Given the description of an element on the screen output the (x, y) to click on. 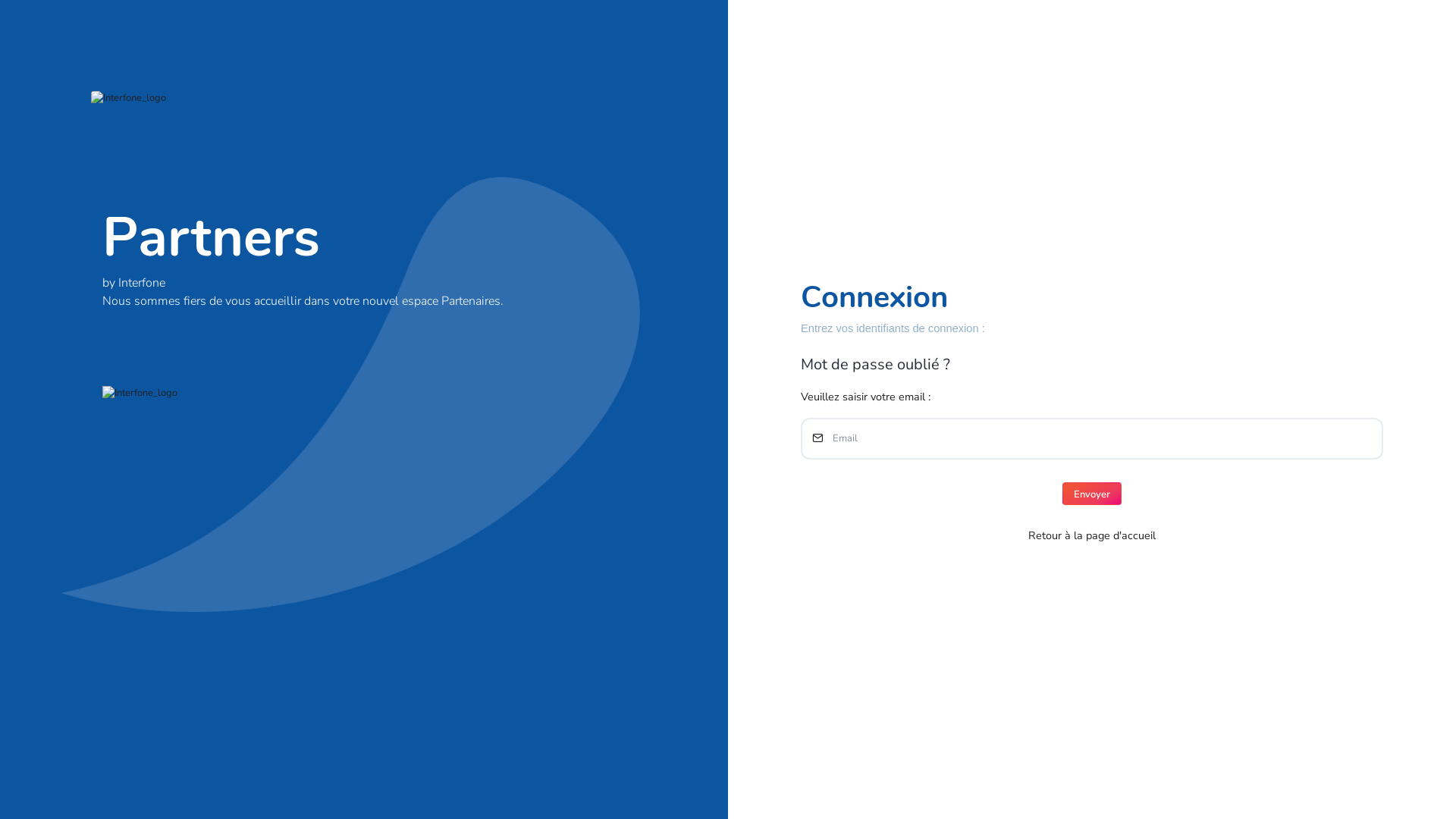
Envoyer Element type: text (1091, 493)
